Given the description of an element on the screen output the (x, y) to click on. 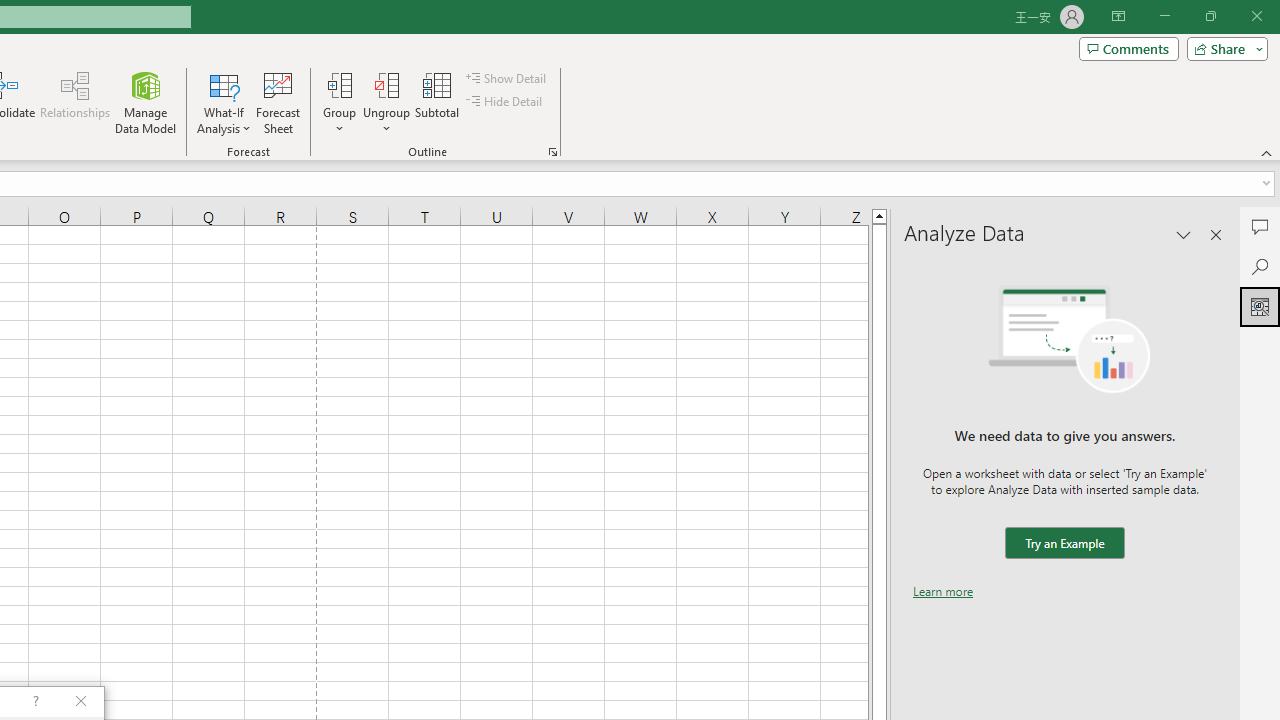
We need data to give you answers. Try an Example (1064, 543)
Ungroup... (386, 84)
Manage Data Model (145, 102)
Close (1256, 16)
Hide Detail (505, 101)
Close pane (1215, 234)
Ungroup... (386, 102)
Group... (339, 84)
Forecast Sheet (278, 102)
Show Detail (507, 78)
Analyze Data (1260, 306)
Relationships (75, 102)
Group and Outline Settings (552, 151)
Ribbon Display Options (1118, 16)
Collapse the Ribbon (1267, 152)
